Given the description of an element on the screen output the (x, y) to click on. 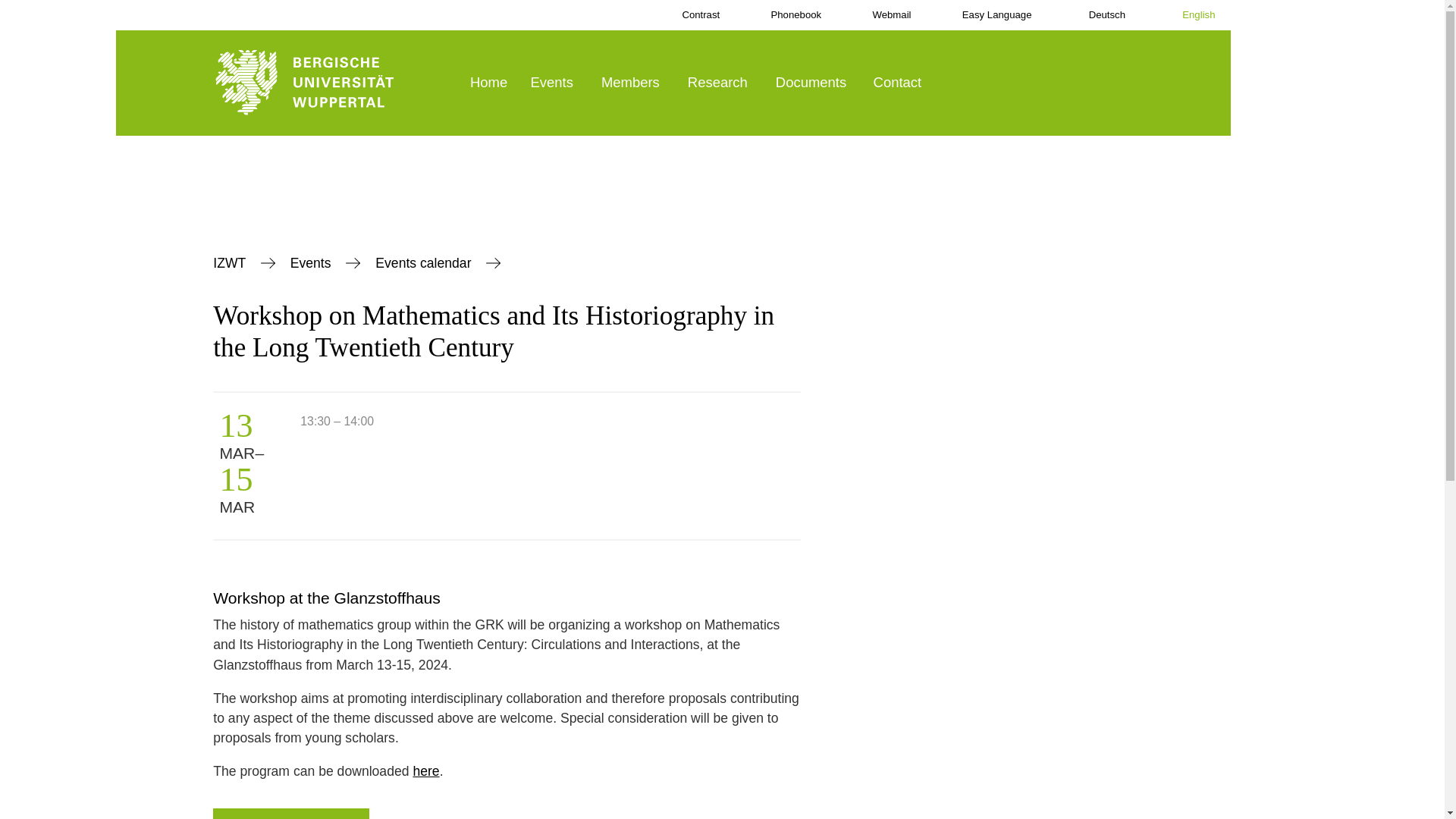
Members (634, 83)
go to front page (334, 82)
Easy Language (987, 15)
Contrast (690, 15)
Deutsch (1093, 15)
Webmail (881, 15)
Home (490, 83)
Events (554, 83)
Research (721, 83)
Deutsch (1093, 15)
Phonebook (785, 15)
